Given the description of an element on the screen output the (x, y) to click on. 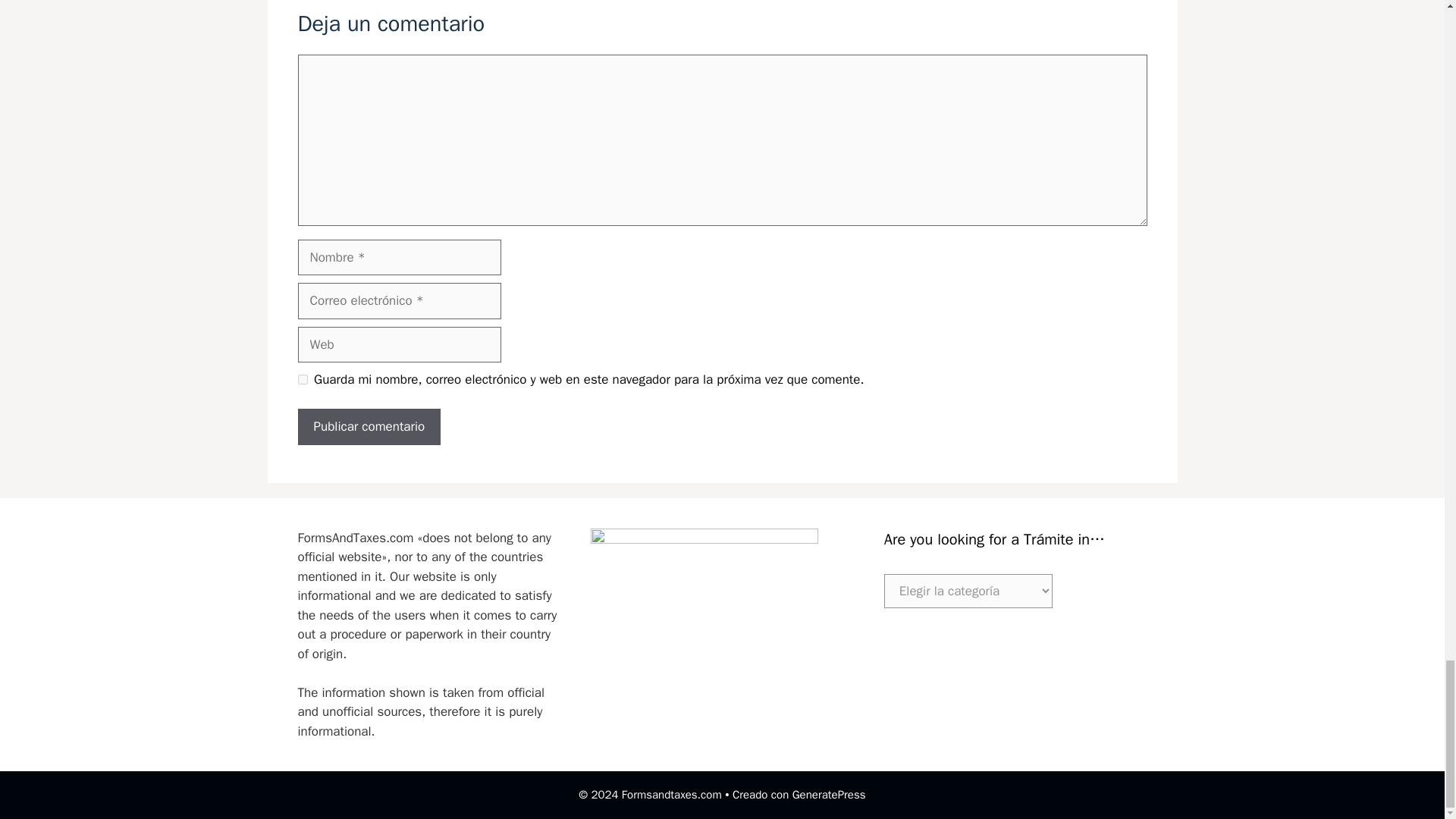
Publicar comentario (369, 426)
Publicar comentario (369, 426)
yes (302, 379)
GeneratePress (829, 794)
